Given the description of an element on the screen output the (x, y) to click on. 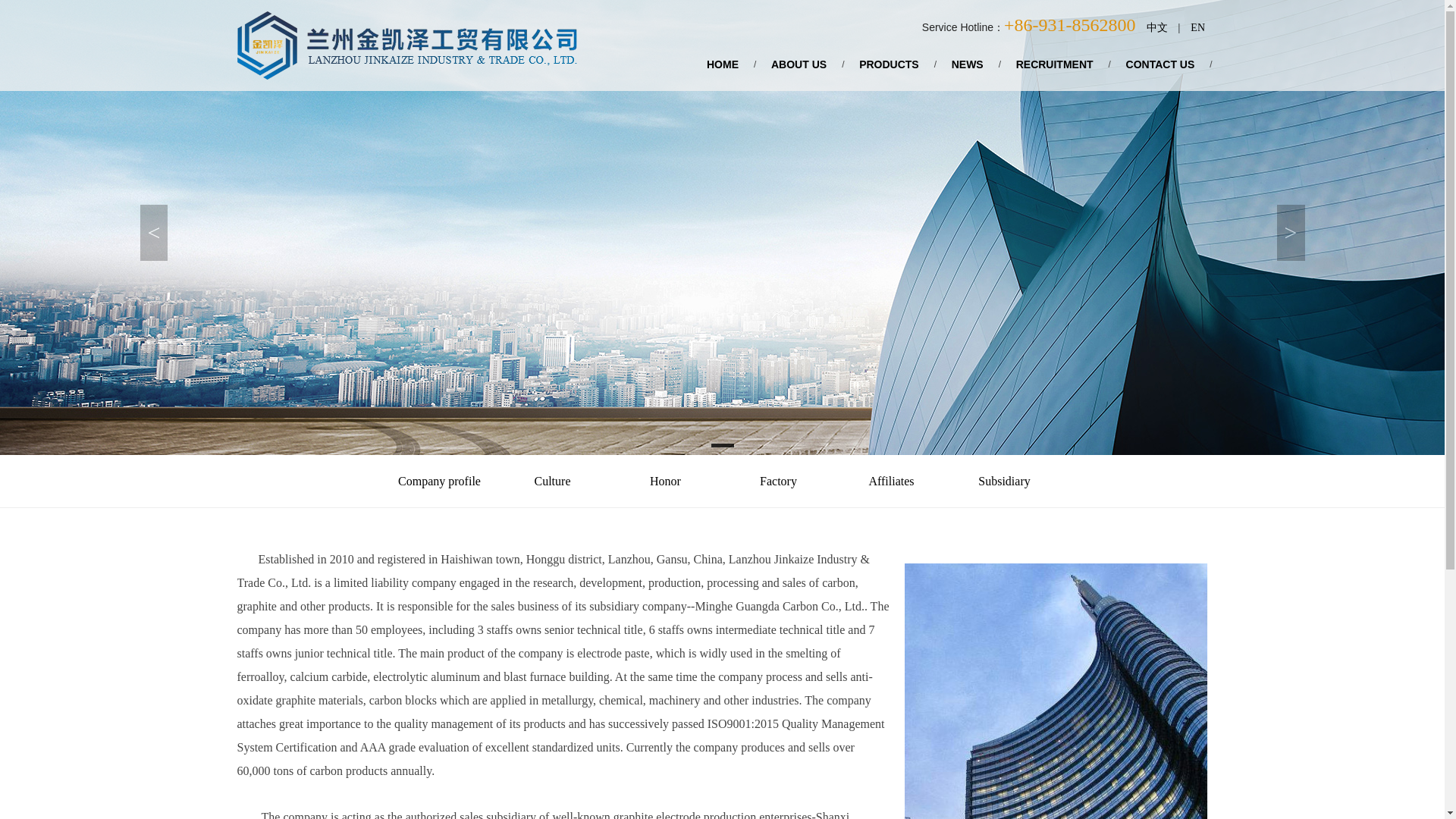
ABOUT US (798, 64)
RECRUITMENT (1054, 64)
Affiliates (891, 481)
Affiliates (891, 481)
Honor (665, 481)
Subsidiary (1003, 481)
Honor (665, 481)
Factory (777, 481)
CONTACT US (1159, 64)
RECRUITMENT (1054, 64)
